Given the description of an element on the screen output the (x, y) to click on. 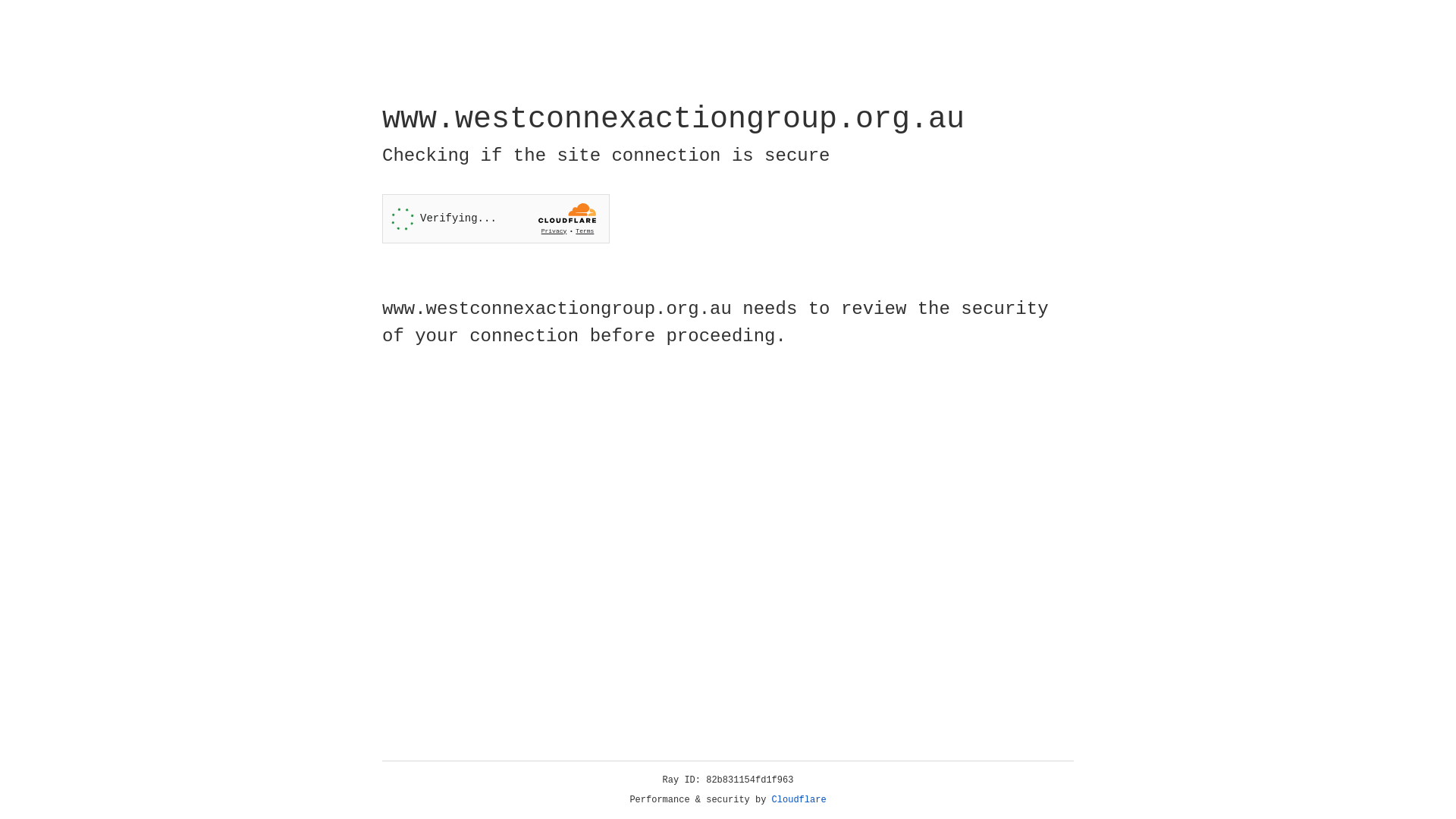
Widget containing a Cloudflare security challenge Element type: hover (495, 218)
Cloudflare Element type: text (798, 799)
